Given the description of an element on the screen output the (x, y) to click on. 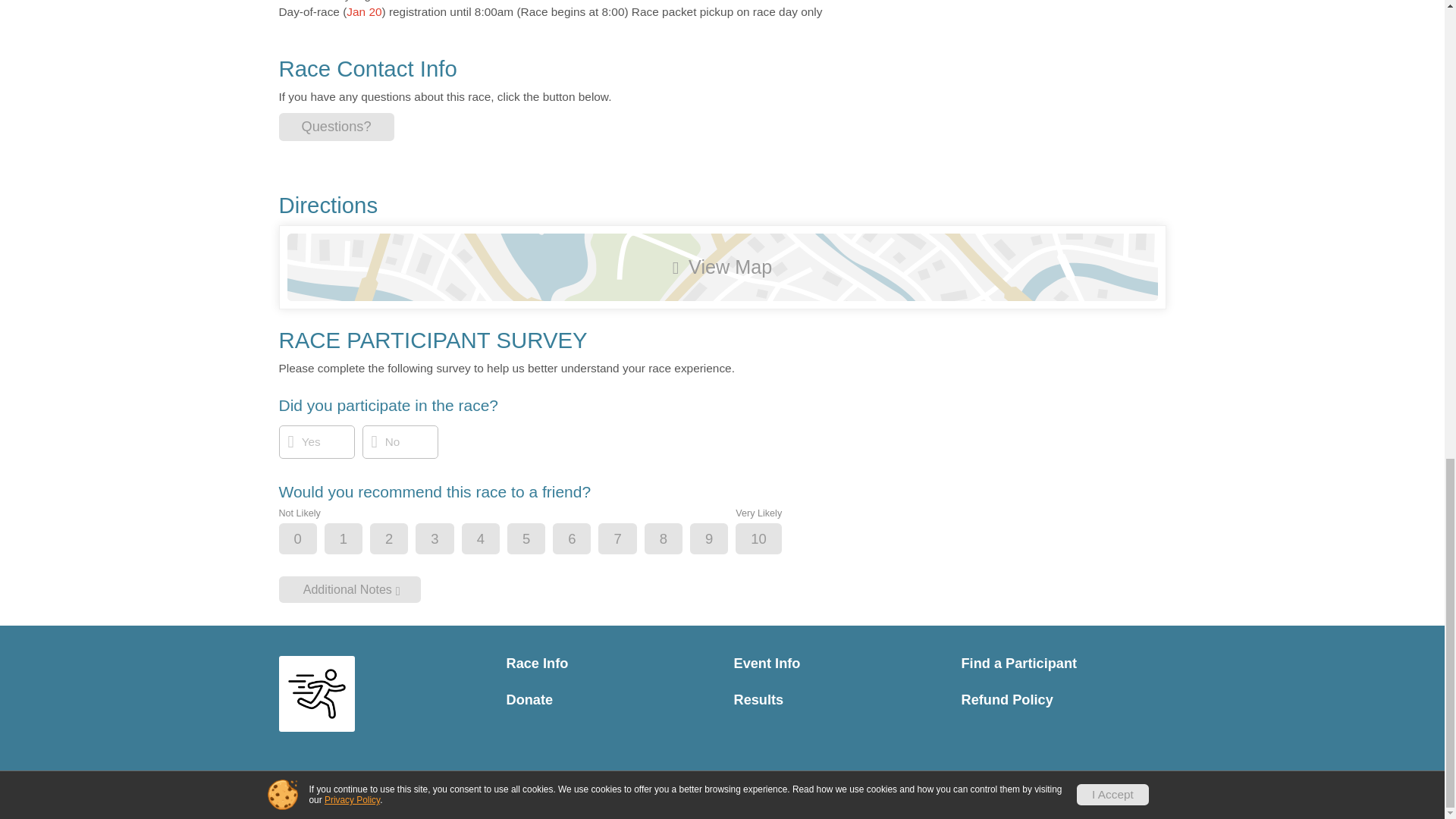
8 (675, 539)
Race Info (608, 663)
Donate (608, 700)
0 (310, 539)
9 (721, 539)
Questions? (336, 126)
Additional Notes (349, 589)
10 (770, 539)
1 (355, 539)
6 (584, 539)
